Given the description of an element on the screen output the (x, y) to click on. 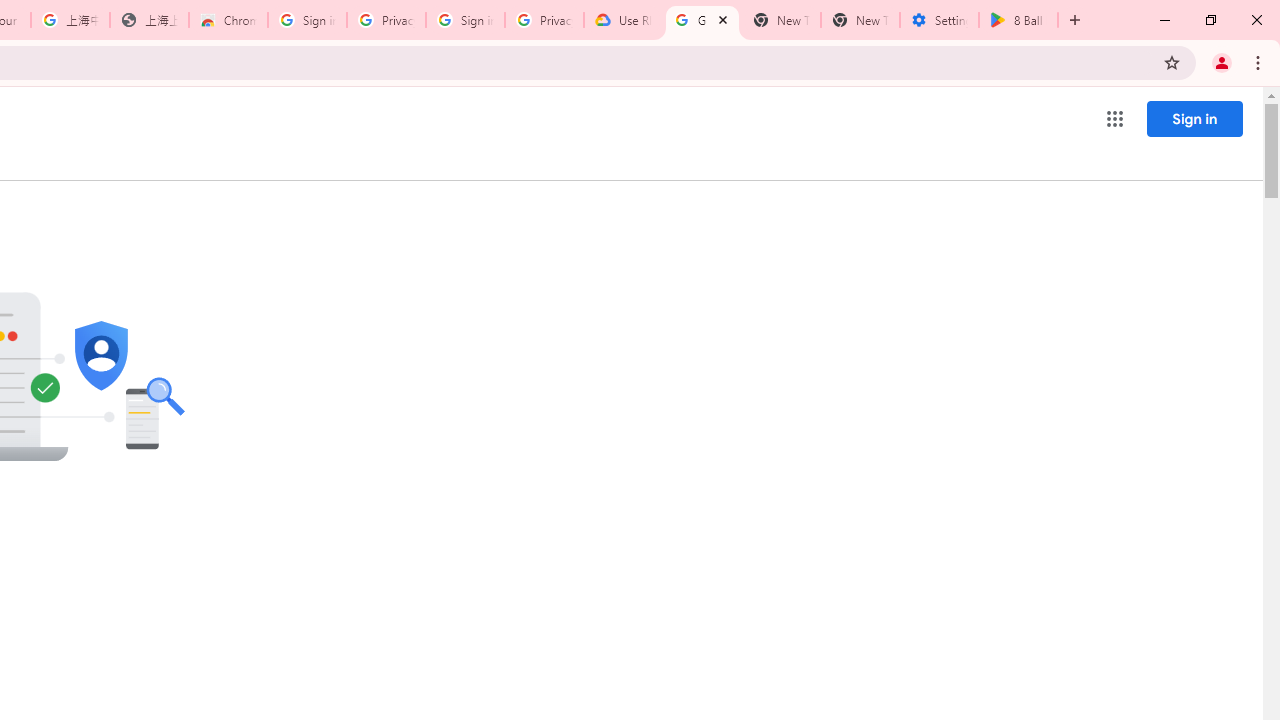
Sign in - Google Accounts (306, 20)
Chrome Web Store - Color themes by Chrome (228, 20)
New Tab (859, 20)
Sign in - Google Accounts (465, 20)
8 Ball Pool - Apps on Google Play (1018, 20)
